Given the description of an element on the screen output the (x, y) to click on. 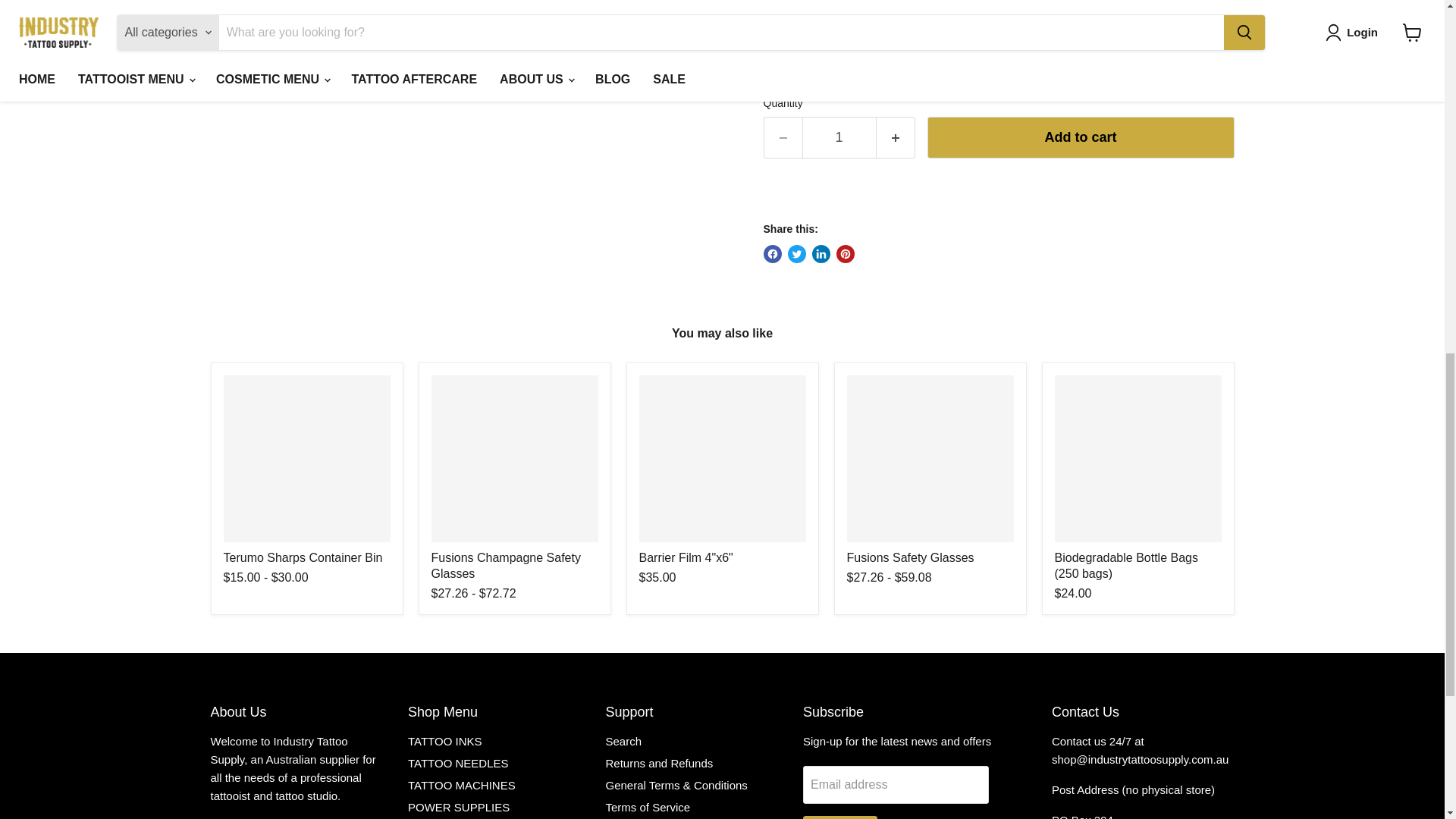
1 (839, 137)
